Given the description of an element on the screen output the (x, y) to click on. 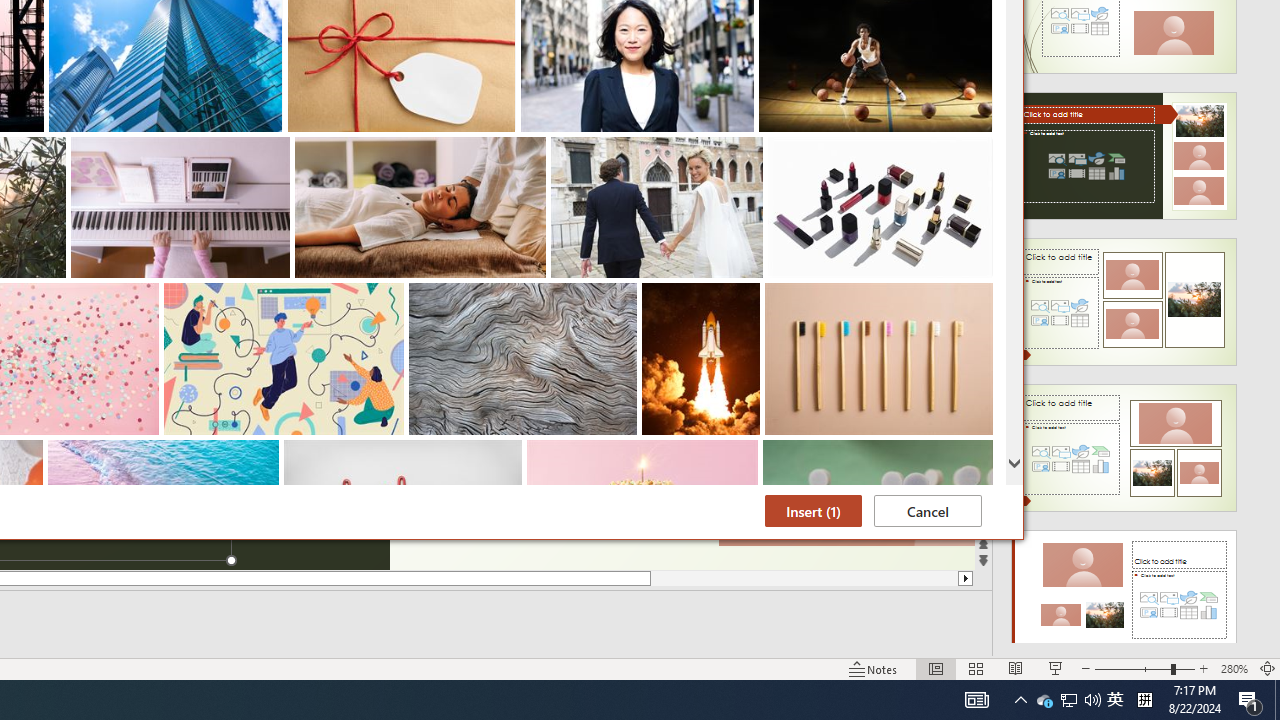
Zoom In (1204, 668)
Insert (1) (1044, 699)
User Promoted Notification Area (813, 511)
